Given the description of an element on the screen output the (x, y) to click on. 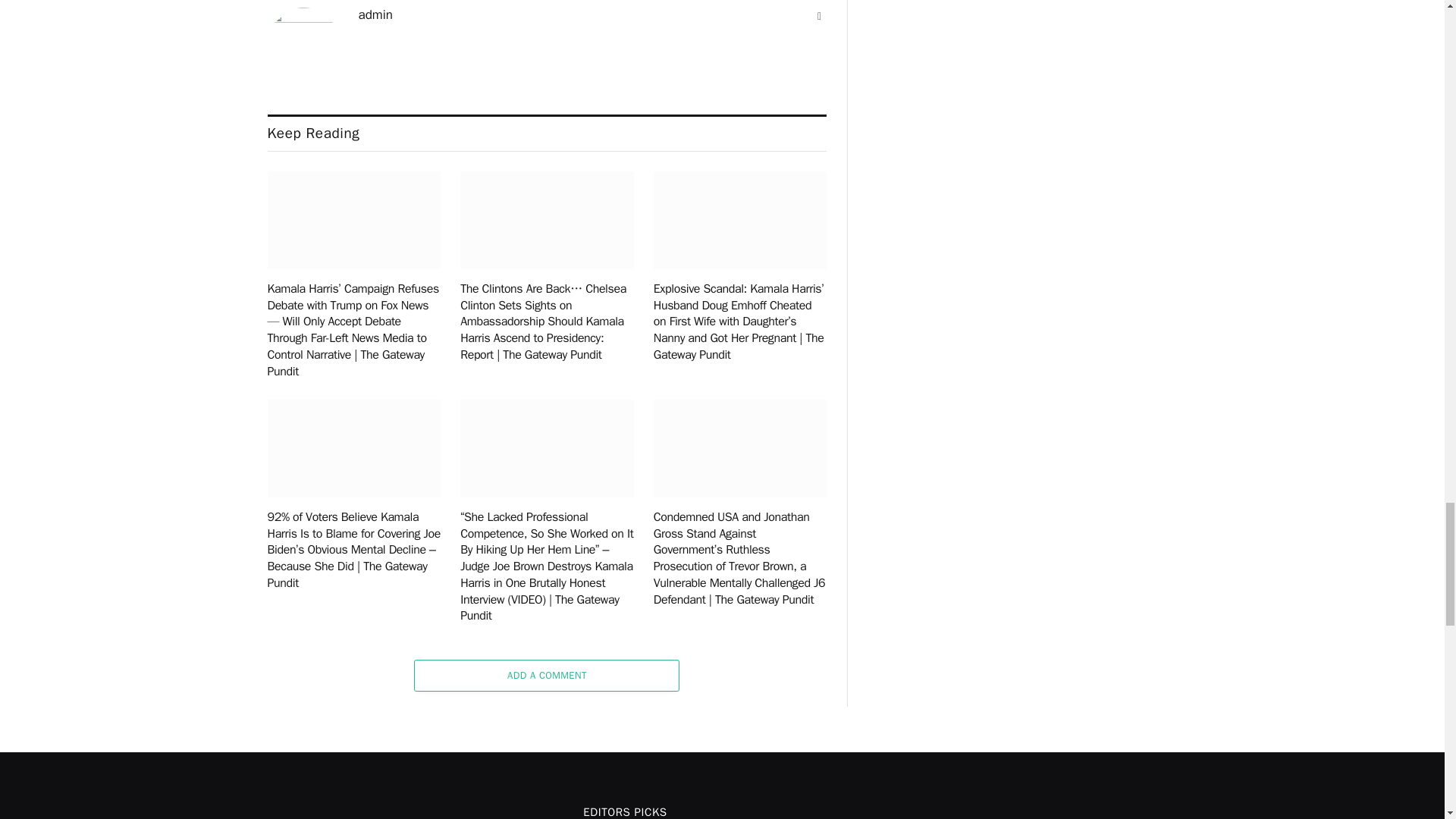
Posts by admin (375, 14)
